Given the description of an element on the screen output the (x, y) to click on. 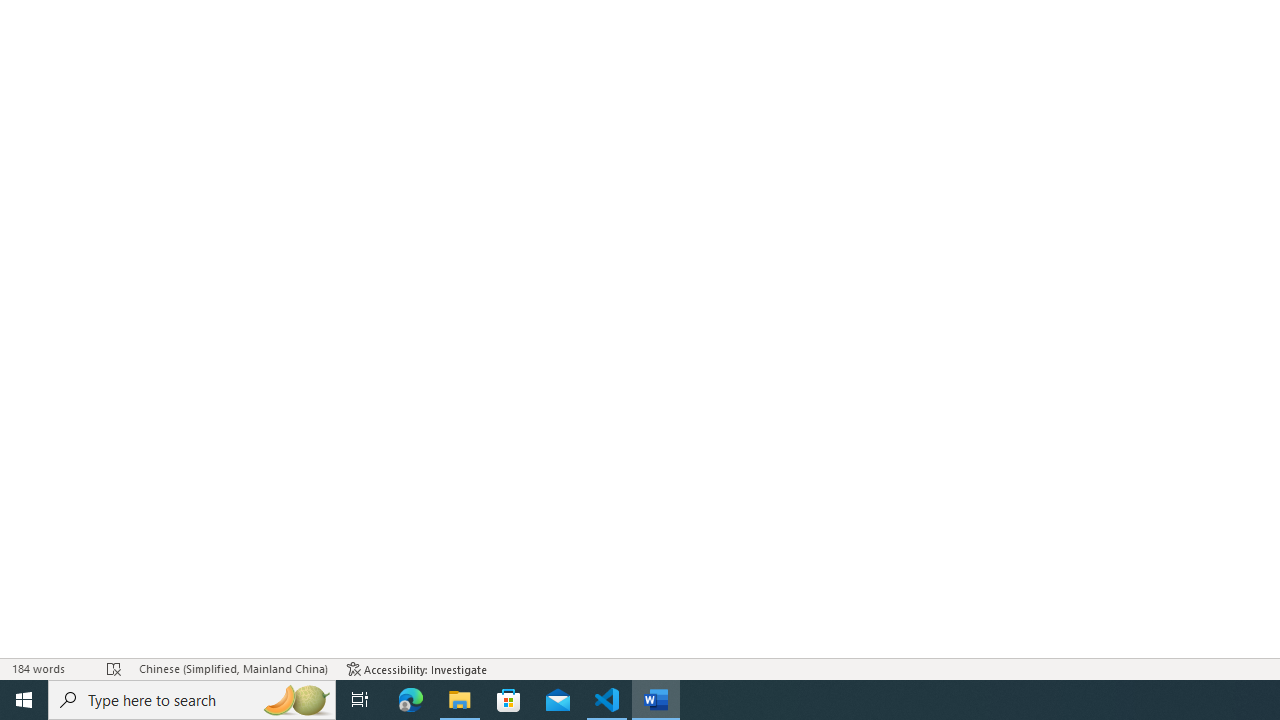
Word Count 184 words (49, 668)
Language Chinese (Simplified, Mainland China) (232, 668)
Spelling and Grammar Check Errors (114, 668)
Accessibility Checker Accessibility: Investigate (417, 668)
